Given the description of an element on the screen output the (x, y) to click on. 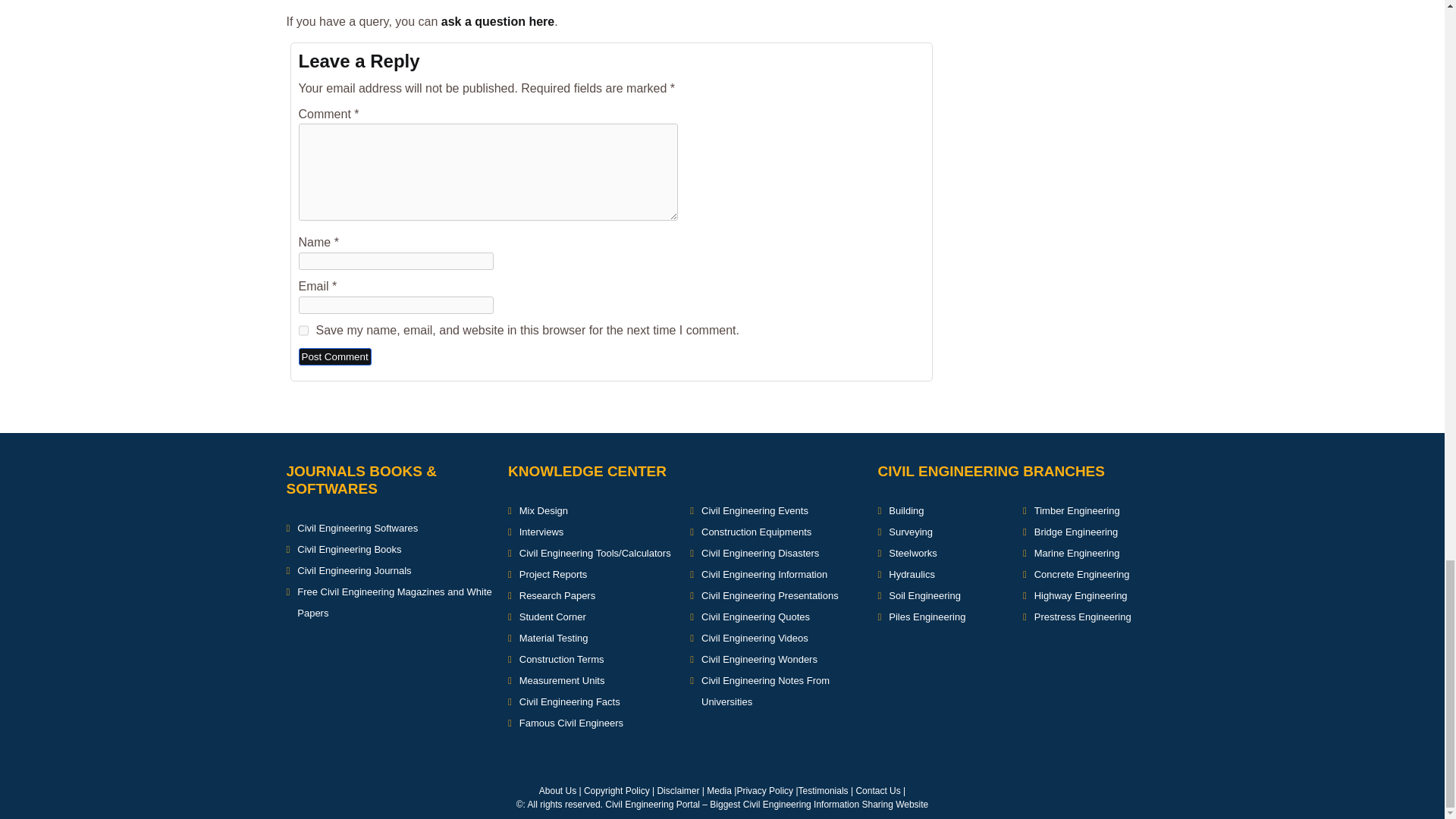
yes (303, 330)
Post Comment (334, 356)
